Given the description of an element on the screen output the (x, y) to click on. 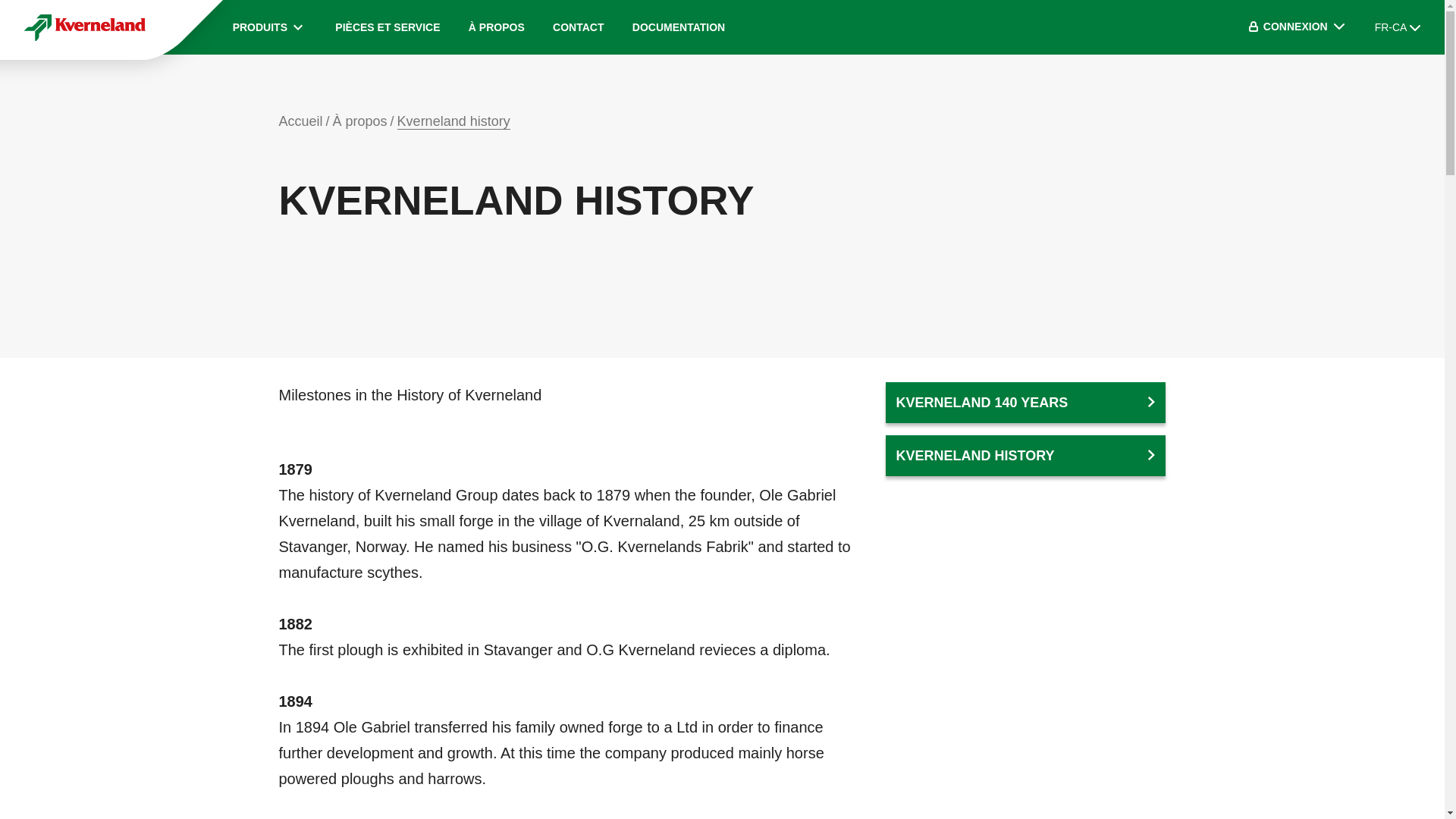
CONTACT (577, 27)
DOCUMENTATION (678, 27)
PRODUITS (269, 27)
Kverneland (84, 26)
Search (1221, 26)
